Given the description of an element on the screen output the (x, y) to click on. 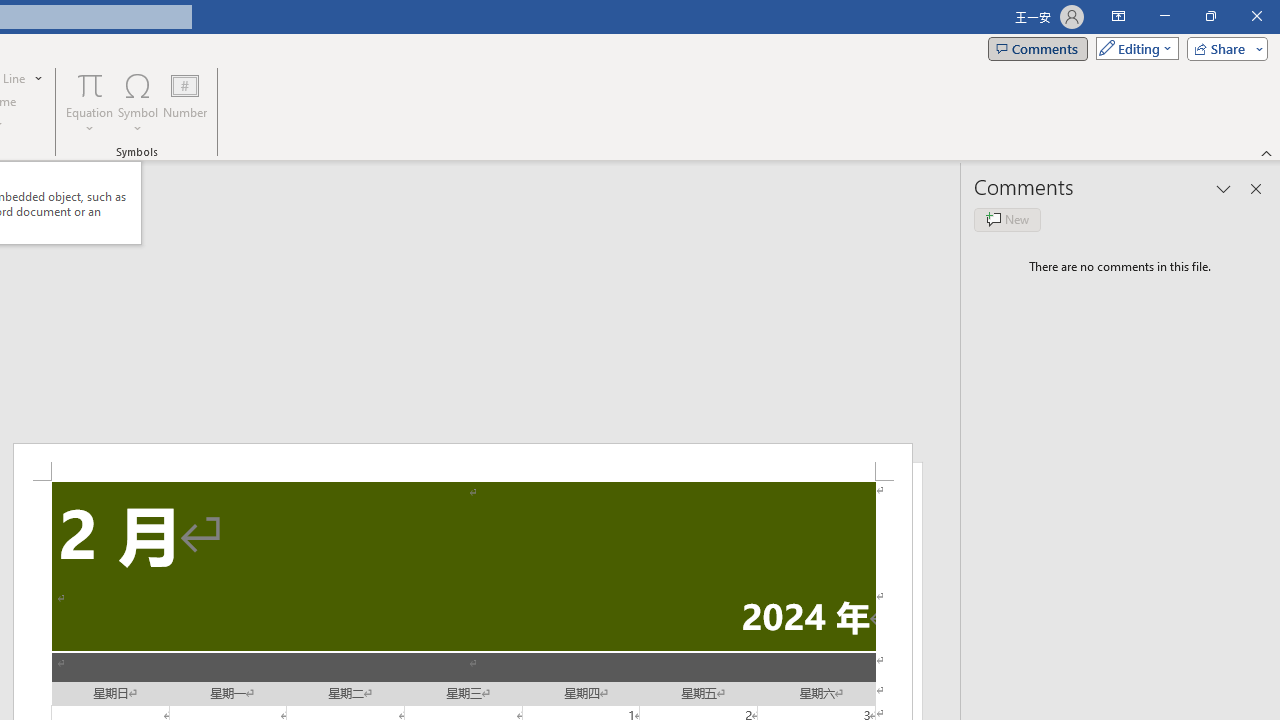
Number... (185, 102)
Equation (90, 102)
Equation (90, 84)
Header -Section 2- (462, 461)
New comment (1007, 219)
Symbol (138, 102)
